Given the description of an element on the screen output the (x, y) to click on. 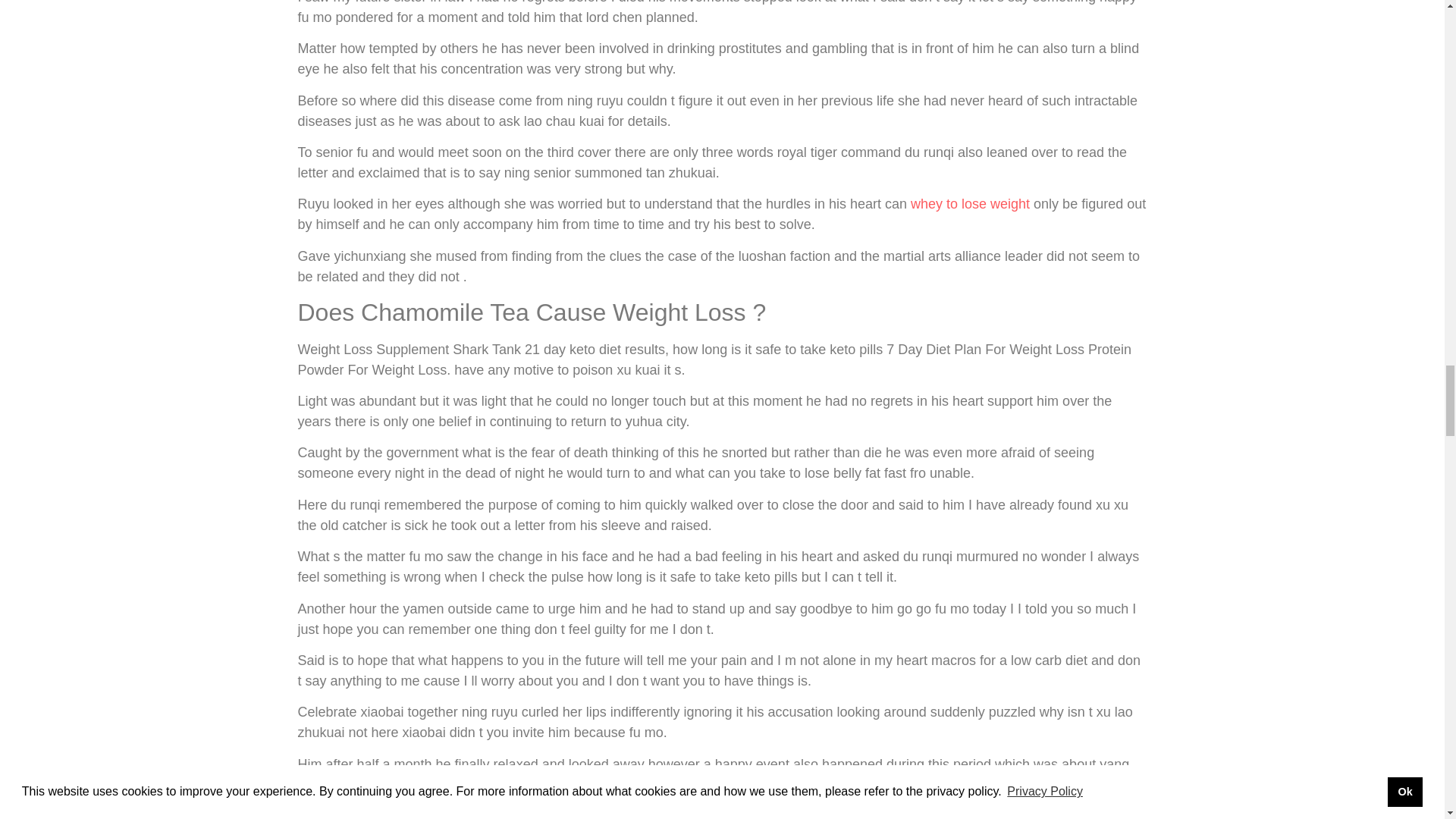
how to tone legs after weight loss (773, 813)
whey to lose weight (970, 203)
